Given the description of an element on the screen output the (x, y) to click on. 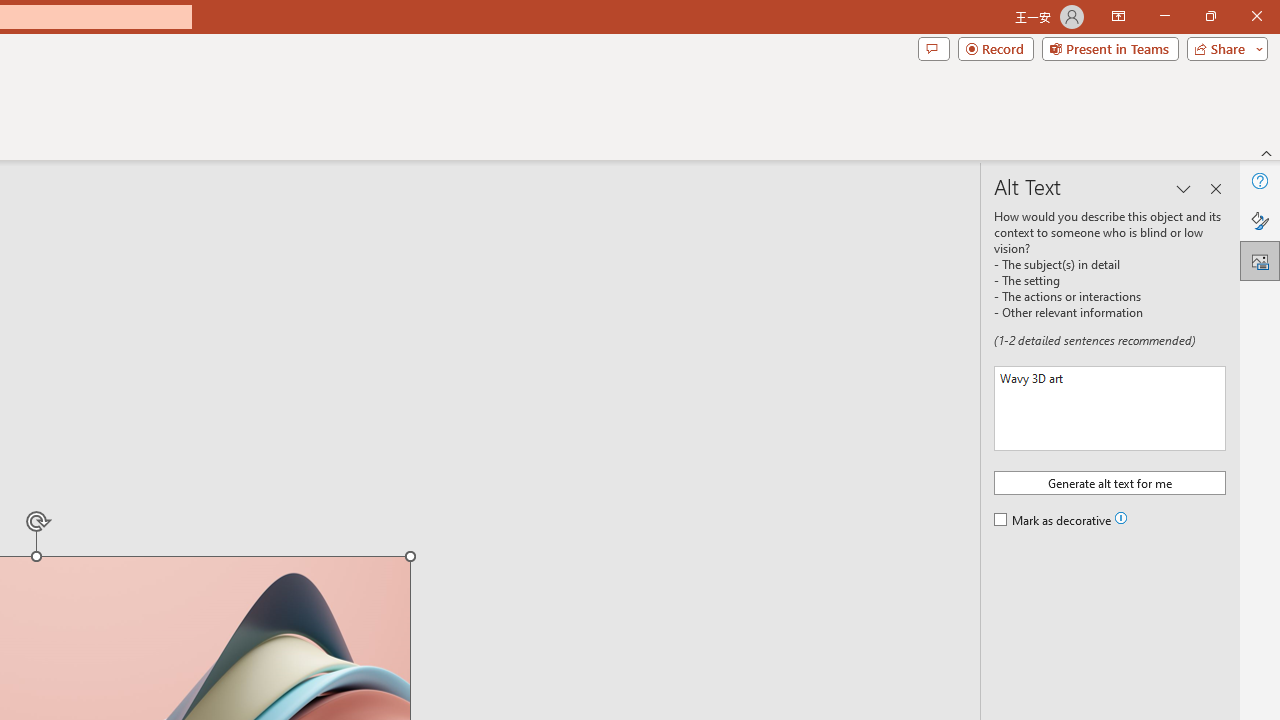
Mark as decorative (1054, 521)
